Given the description of an element on the screen output the (x, y) to click on. 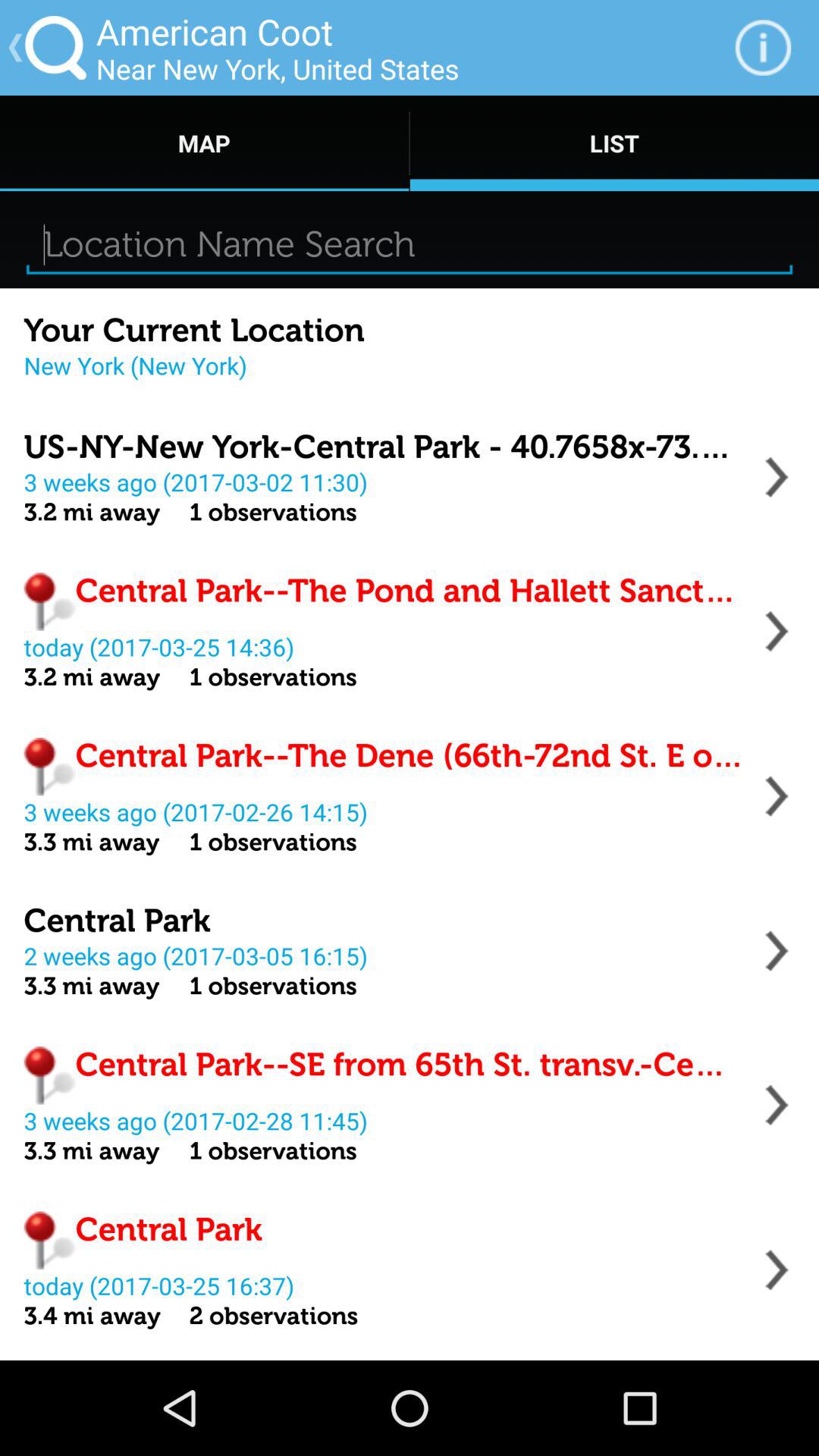
turn on the your current location item (193, 330)
